Given the description of an element on the screen output the (x, y) to click on. 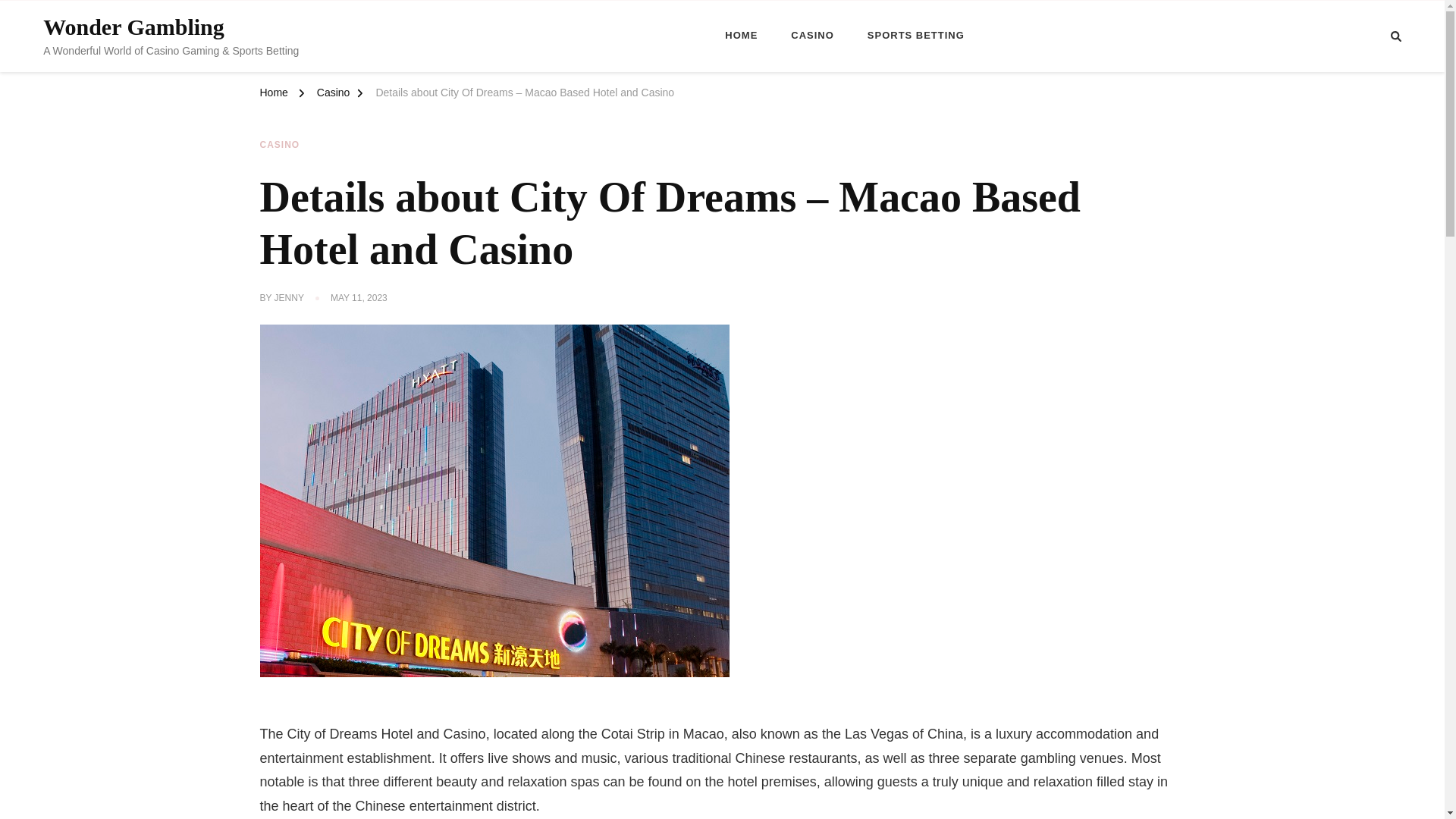
JENNY (289, 298)
SPORTS BETTING (915, 35)
HOME (740, 35)
Wonder Gambling (133, 26)
CASINO (279, 145)
Casino (333, 94)
Home (272, 94)
CASINO (812, 35)
MAY 11, 2023 (358, 298)
